Given the description of an element on the screen output the (x, y) to click on. 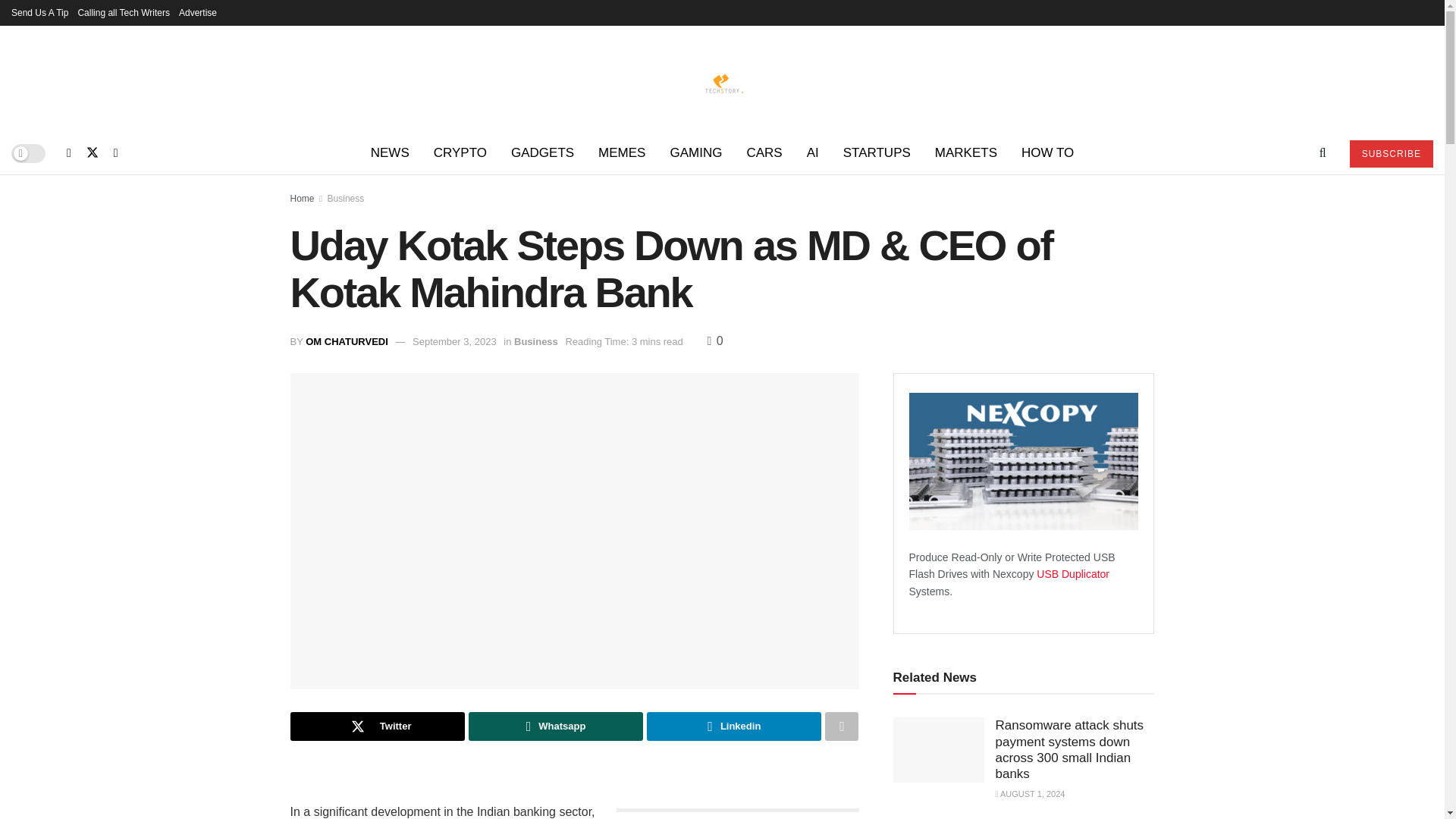
OM CHATURVEDI (346, 341)
Business (346, 198)
MARKETS (966, 152)
Send Us A Tip (39, 12)
CRYPTO (460, 152)
Home (301, 198)
Advertise (197, 12)
CARS (763, 152)
GADGETS (542, 152)
Calling all Tech Writers (123, 12)
